Given the description of an element on the screen output the (x, y) to click on. 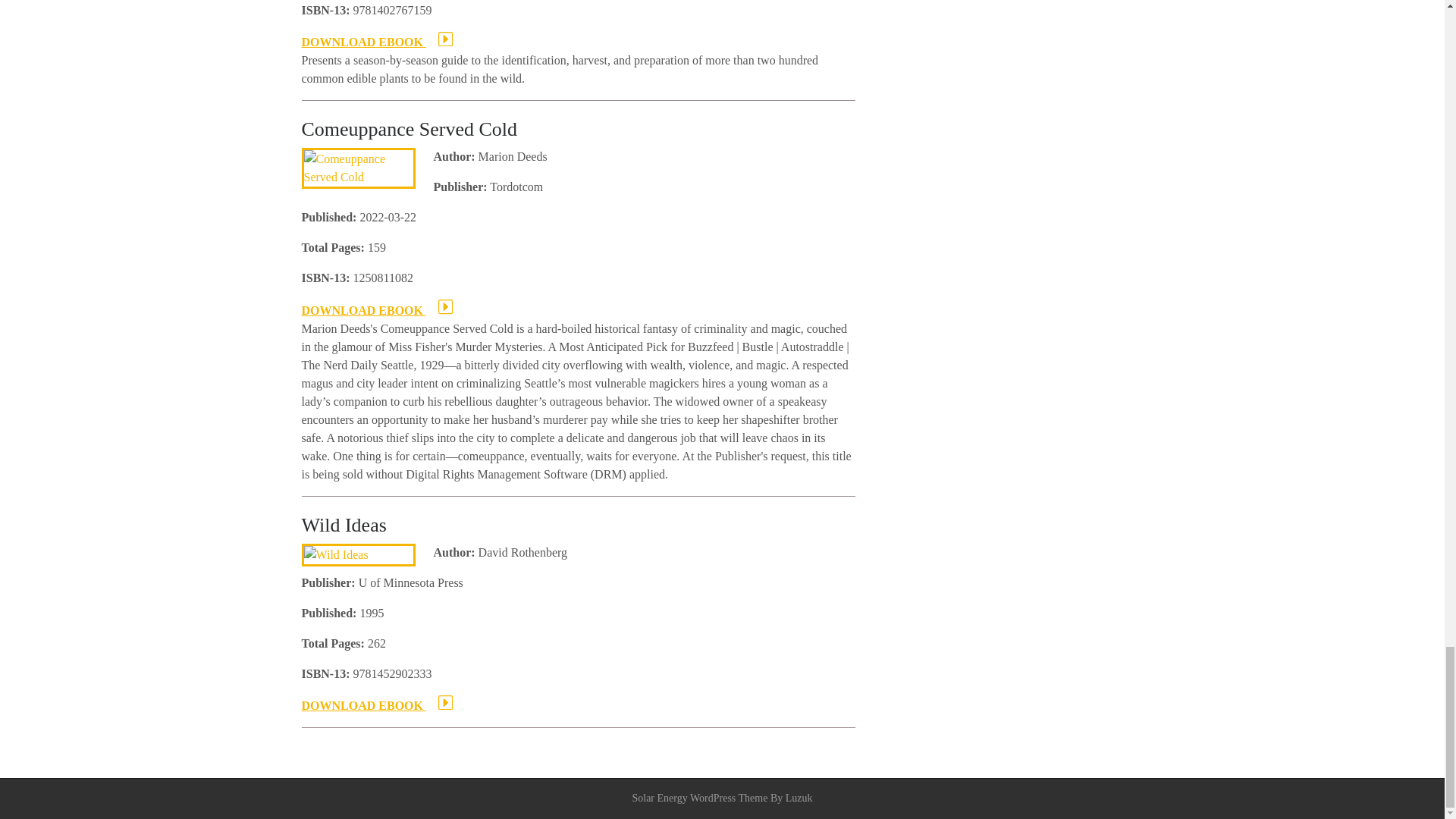
DOWNLOAD EBOOK (376, 705)
DOWNLOAD EBOOK (376, 309)
DOWNLOAD EBOOK (376, 42)
